Given the description of an element on the screen output the (x, y) to click on. 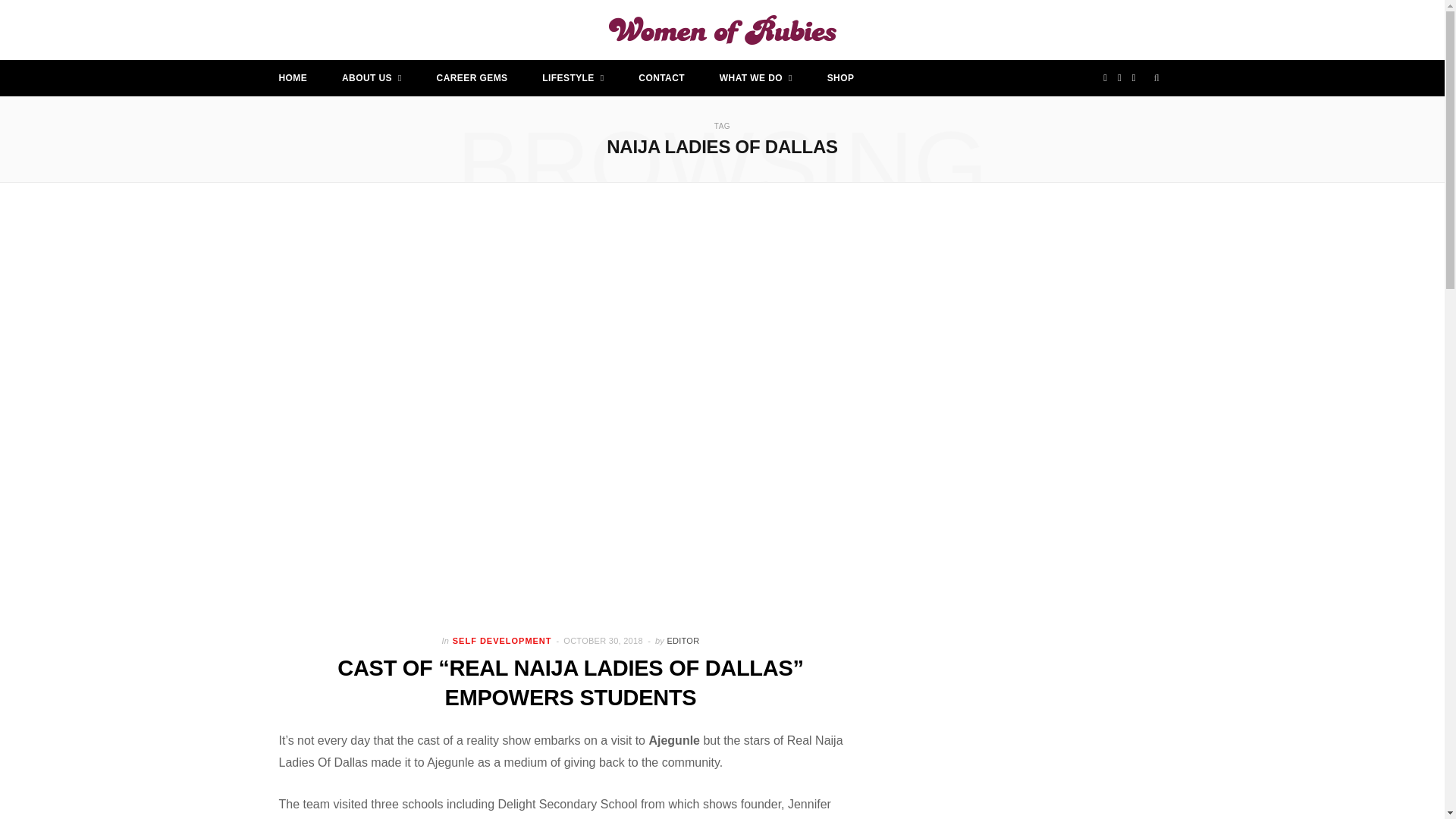
EDITOR (682, 640)
OCTOBER 30, 2018 (604, 640)
Posts by Editor (682, 640)
CAREER GEMS (472, 77)
SHOP (840, 77)
CONTACT (661, 77)
Women of Rubies (721, 30)
WHAT WE DO (755, 77)
HOME (292, 77)
LIFESTYLE (572, 77)
SELF DEVELOPMENT (501, 640)
ABOUT US (371, 77)
